Given the description of an element on the screen output the (x, y) to click on. 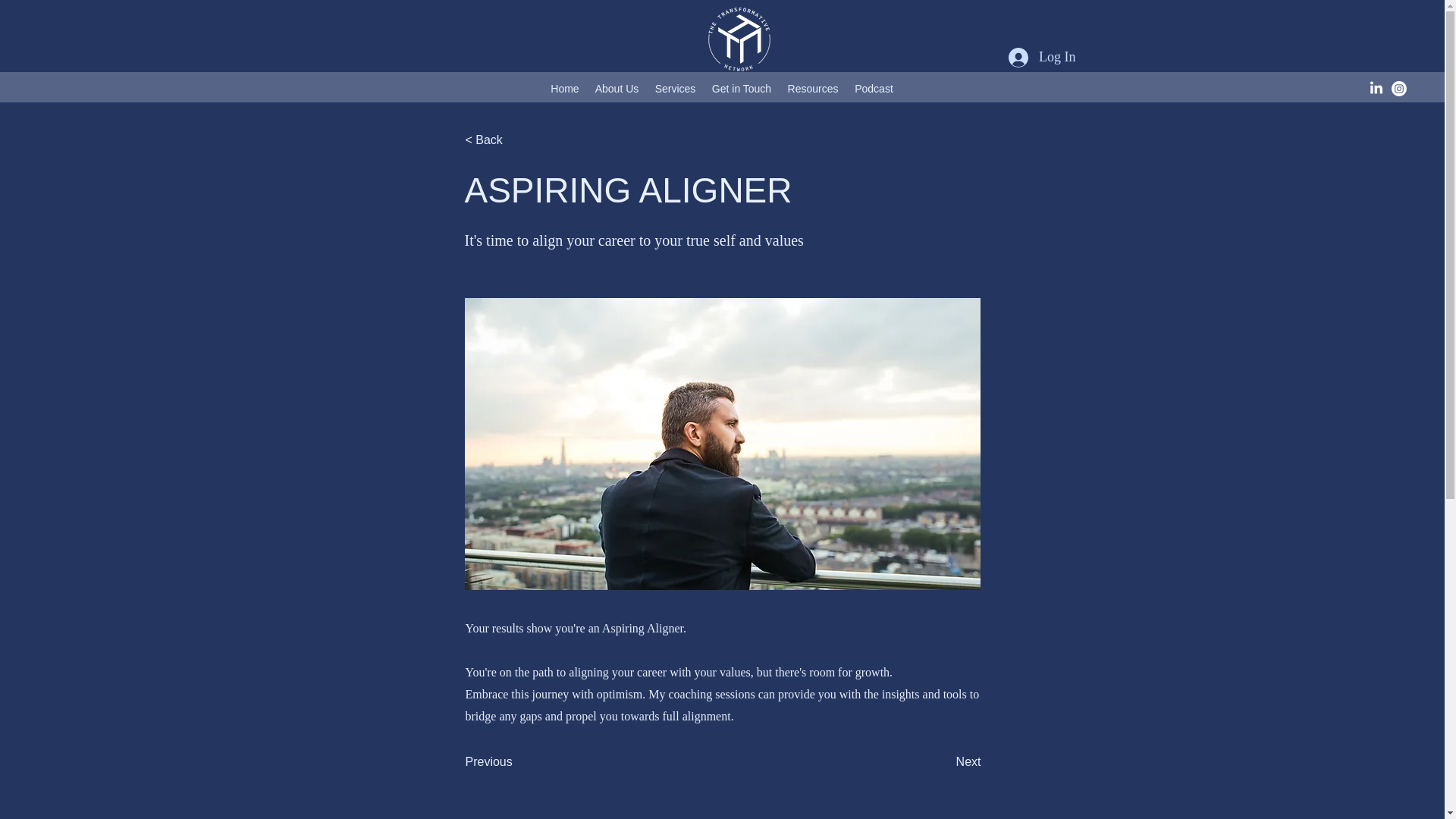
Previous (515, 761)
Podcast (873, 87)
About Us (616, 87)
Resources (811, 87)
Services (674, 87)
Get in Touch (740, 87)
Next (943, 761)
Home (564, 87)
Log In (1041, 57)
